Given the description of an element on the screen output the (x, y) to click on. 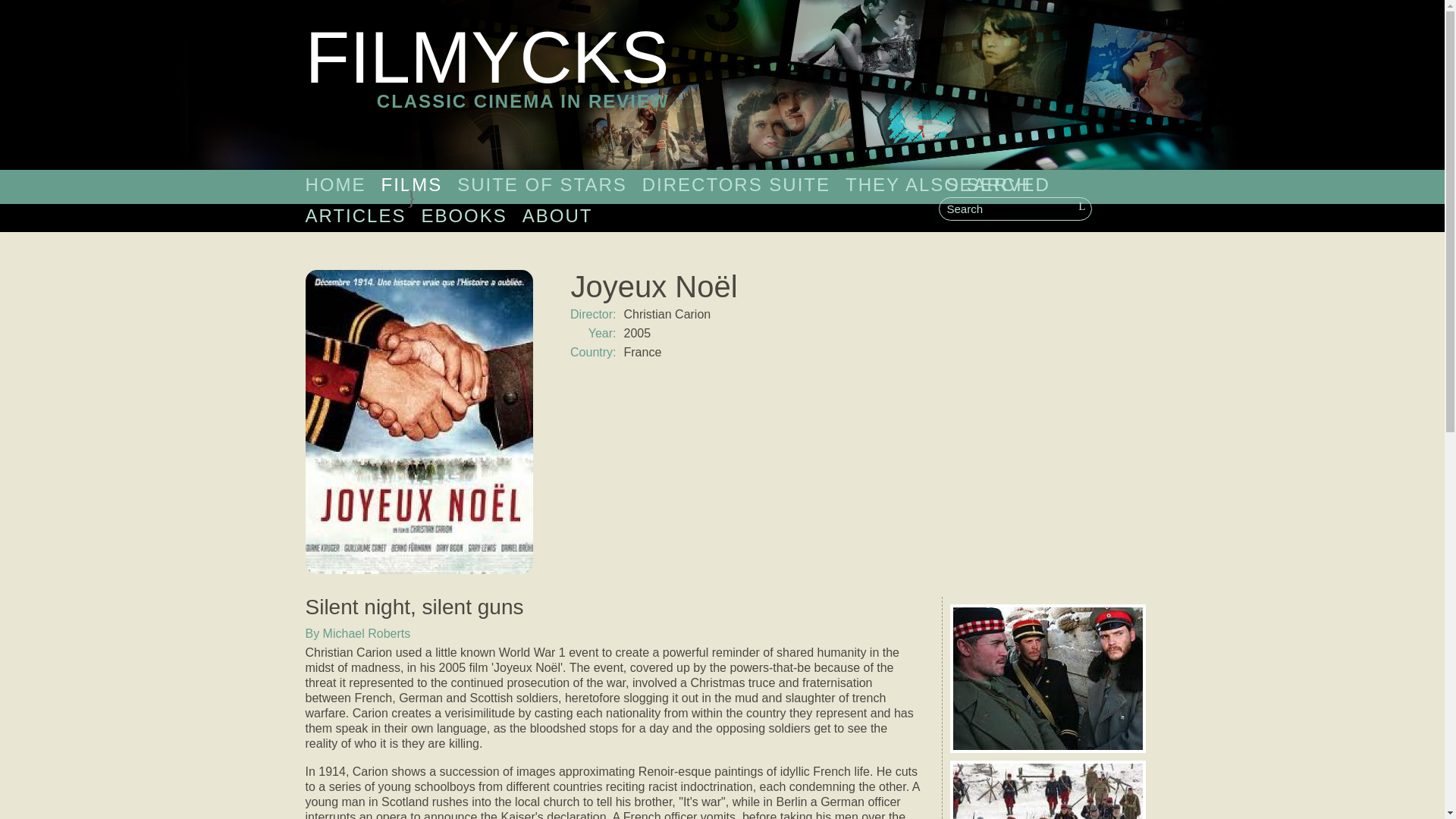
About (557, 215)
Directors Suite (735, 184)
SUITE OF STARS (542, 184)
EBOOKS (463, 215)
L (1081, 206)
ARTICLES (355, 215)
L (1081, 206)
THEY ALSO SERVED (947, 184)
They Also Served (947, 184)
Films (486, 84)
Home (411, 184)
ABOUT (334, 184)
Suite of Stars (557, 215)
DIRECTORS SUITE (542, 184)
